Given the description of an element on the screen output the (x, y) to click on. 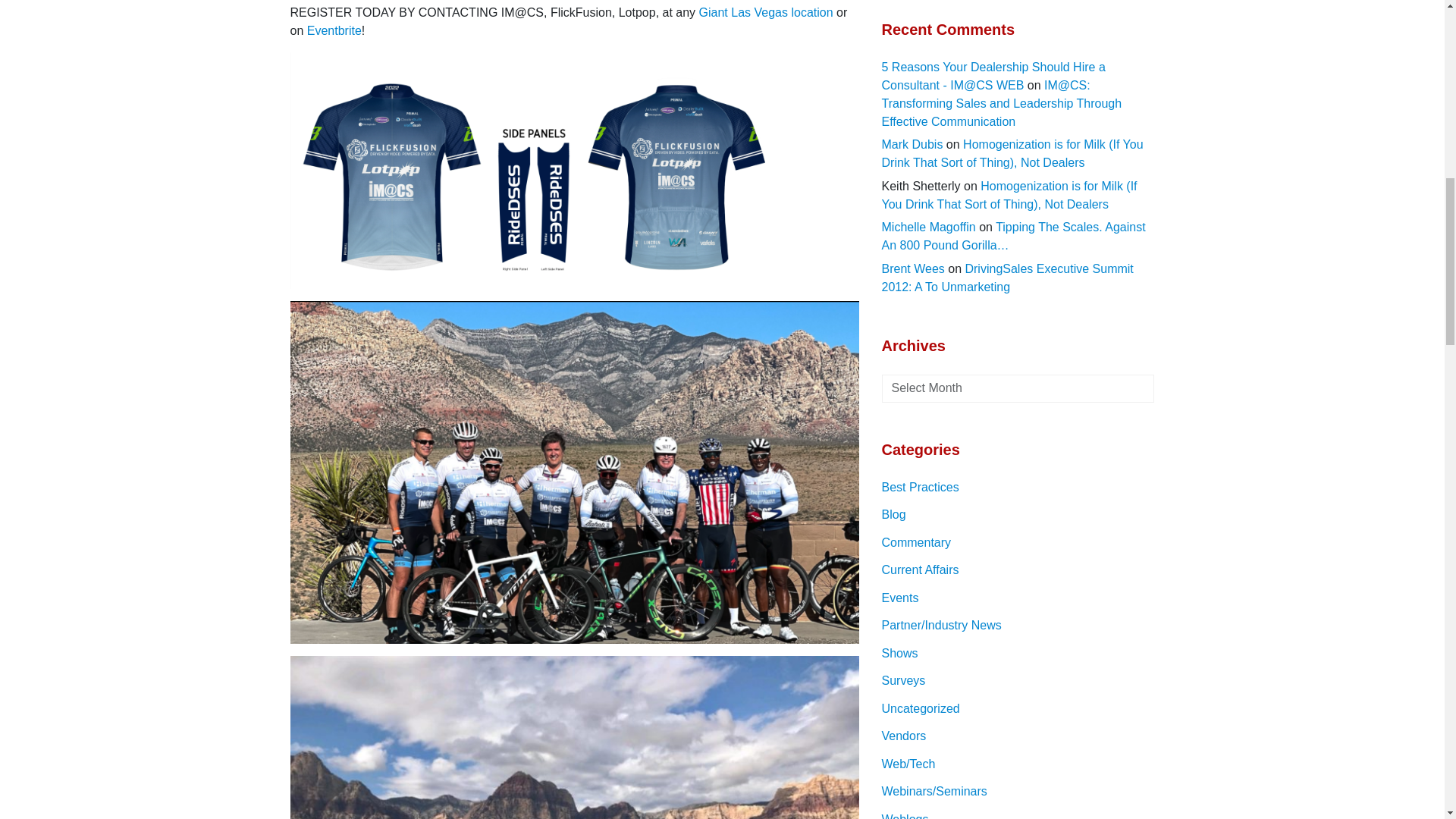
Eventbrite (334, 30)
Giant Las Vegas location (765, 11)
